Given the description of an element on the screen output the (x, y) to click on. 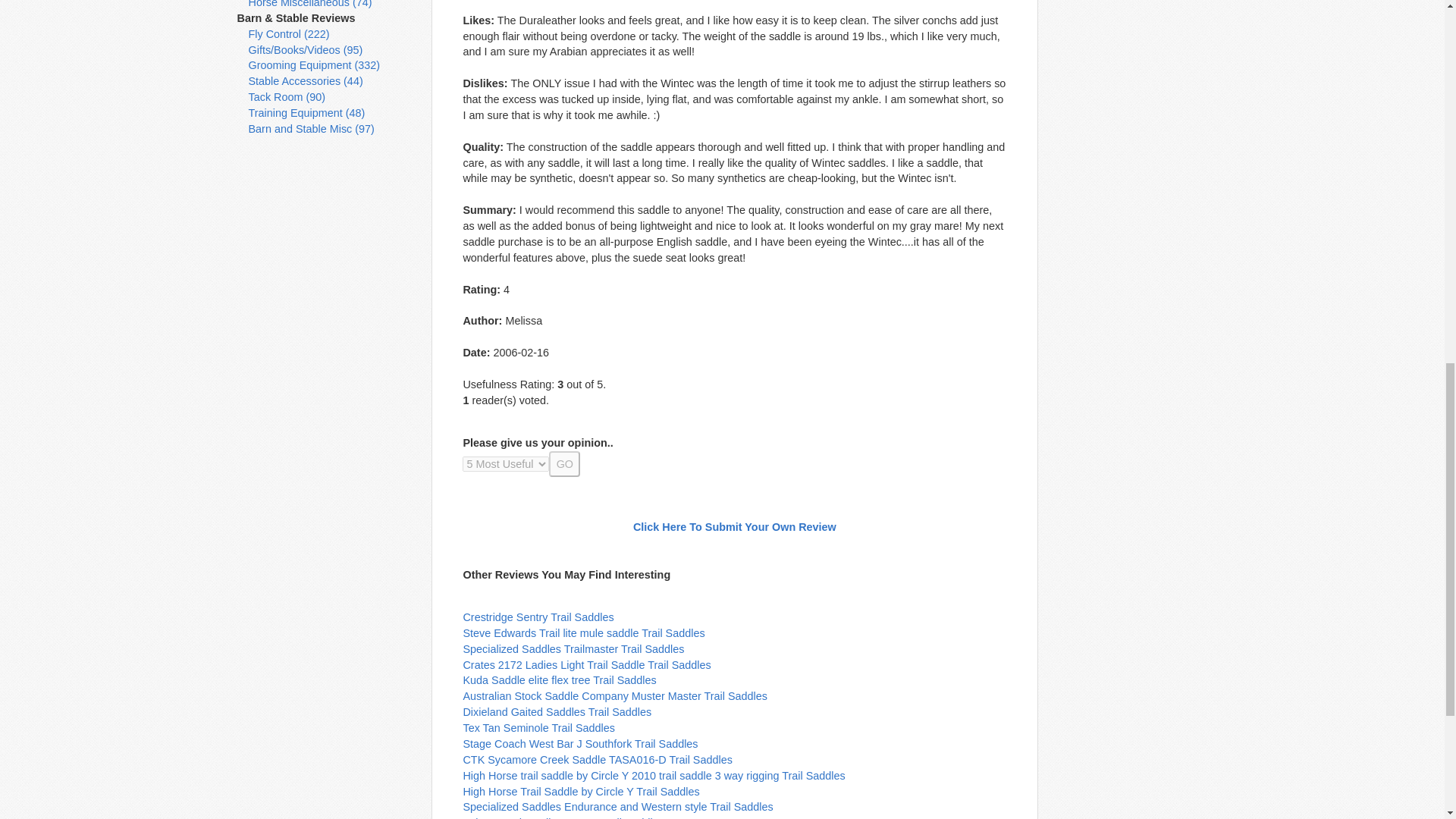
GO (563, 463)
